Given the description of an element on the screen output the (x, y) to click on. 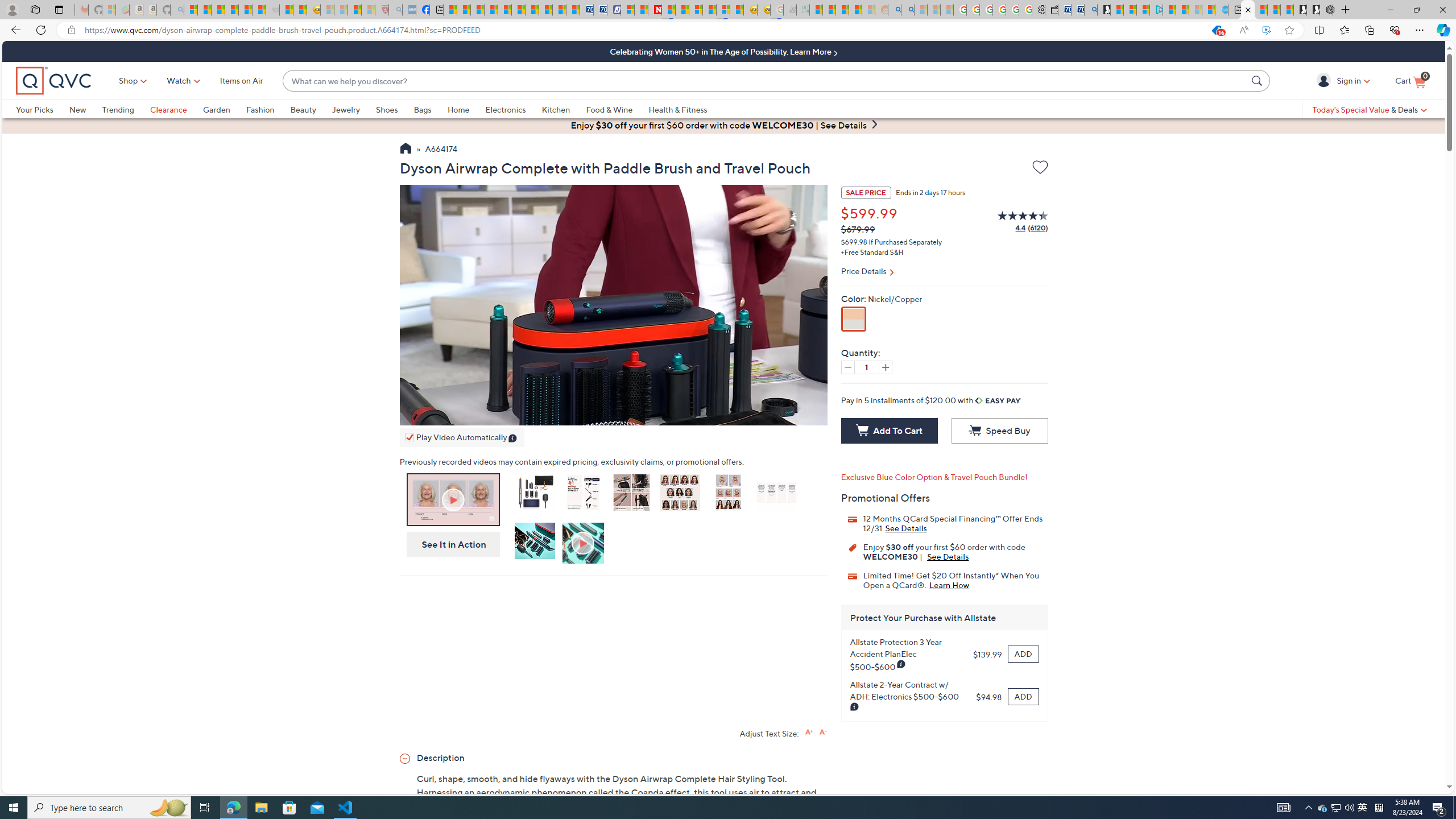
Dyson Airwrap Complete with Paddle Brush and Travel Pouch (534, 494)
What can we help you discover? (764, 80)
Food & Wine (617, 109)
Garden (224, 109)
Health & Fitness (677, 109)
Your Picks (42, 109)
Full Screen (807, 414)
Search Submit (1258, 80)
Decrease quantity by 1 (847, 367)
The Weather Channel - MSN (218, 9)
How to Use (583, 543)
